Given the description of an element on the screen output the (x, y) to click on. 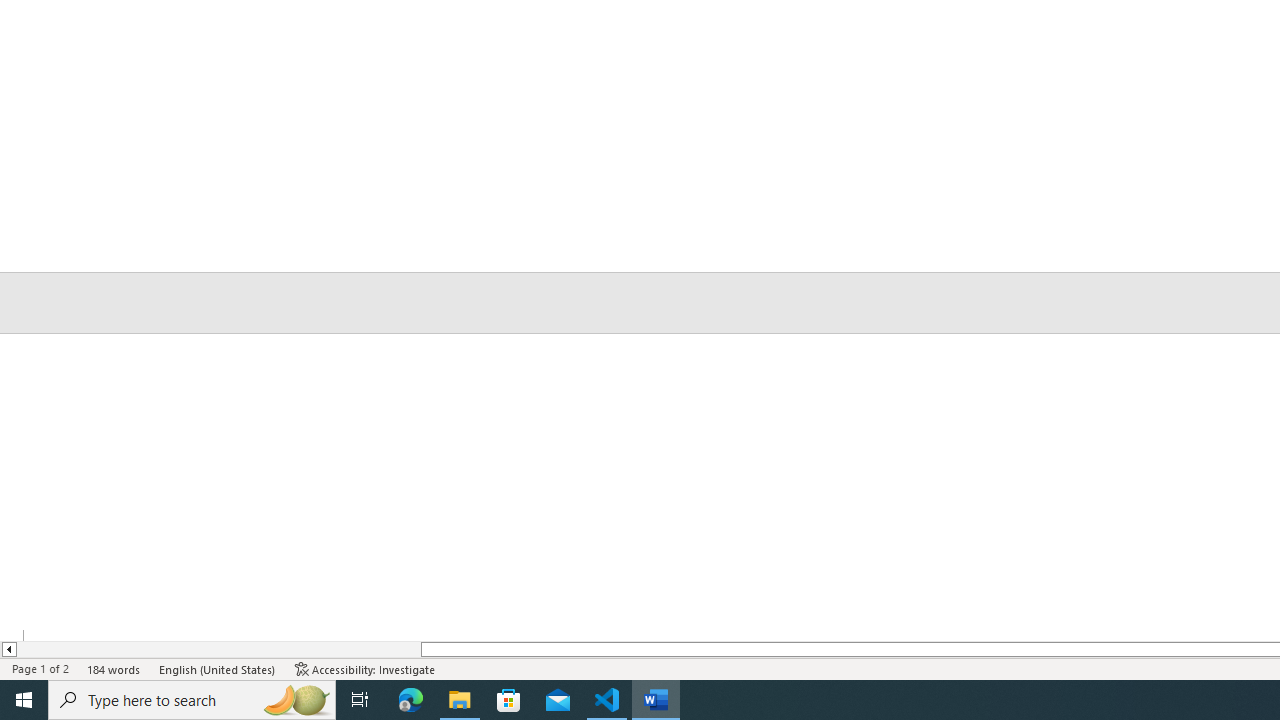
Page left (218, 649)
Accessibility Checker Accessibility: Investigate (365, 668)
Language English (United States) (218, 668)
Column left (8, 649)
Page Number Page 1 of 2 (39, 668)
